Given the description of an element on the screen output the (x, y) to click on. 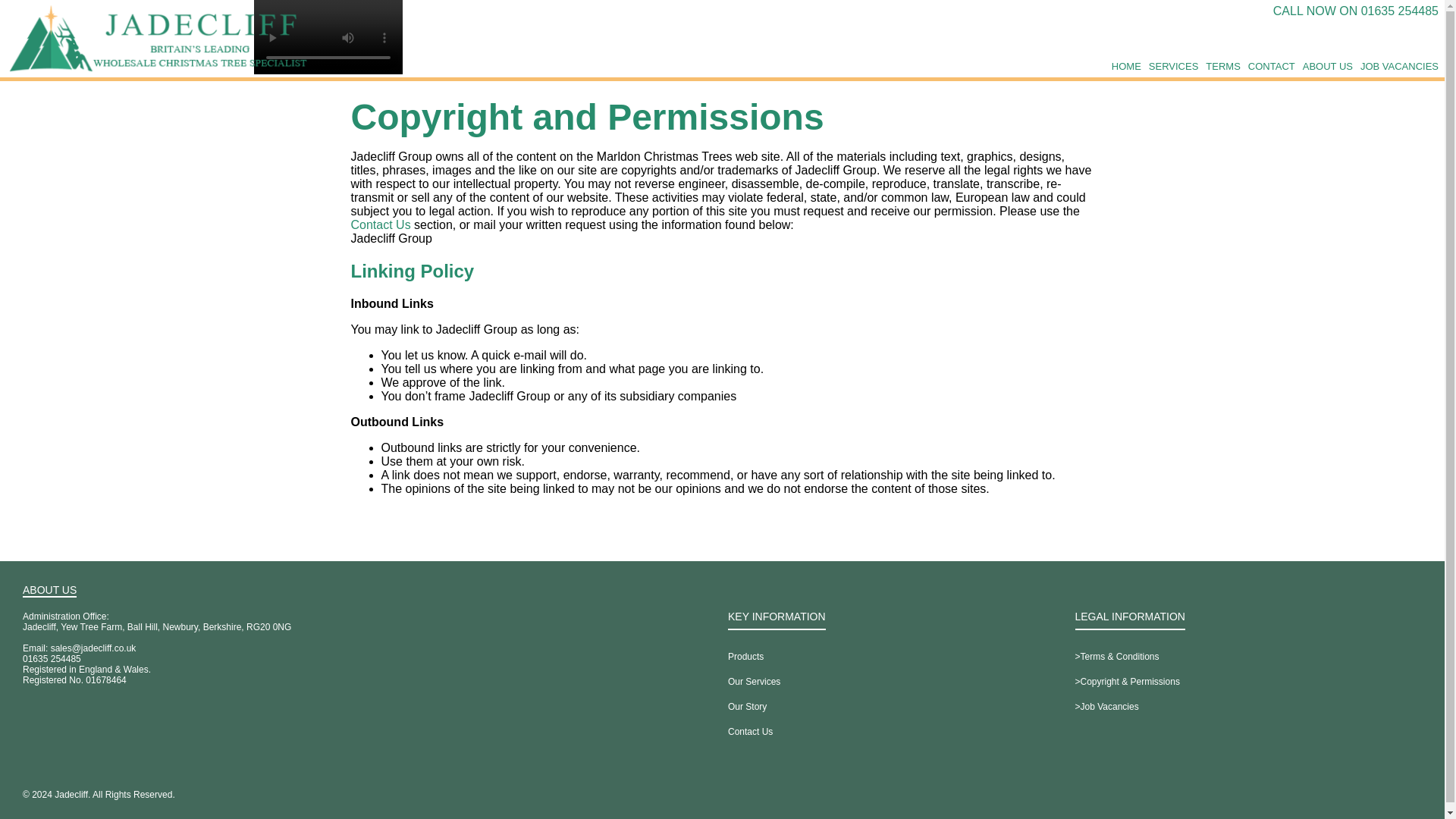
Products (745, 656)
SERVICES (1173, 66)
ABOUT US (1327, 66)
About Us (1327, 66)
Our Story (747, 706)
Job Vacancies (1398, 66)
Services (1173, 66)
CALL NOW ON 01635 254485 (1355, 11)
Contact (1271, 66)
HOME (1126, 66)
TERMS (1222, 66)
JOB VACANCIES (1398, 66)
Contact Us (750, 731)
Our Services (754, 681)
Terms (1222, 66)
